Given the description of an element on the screen output the (x, y) to click on. 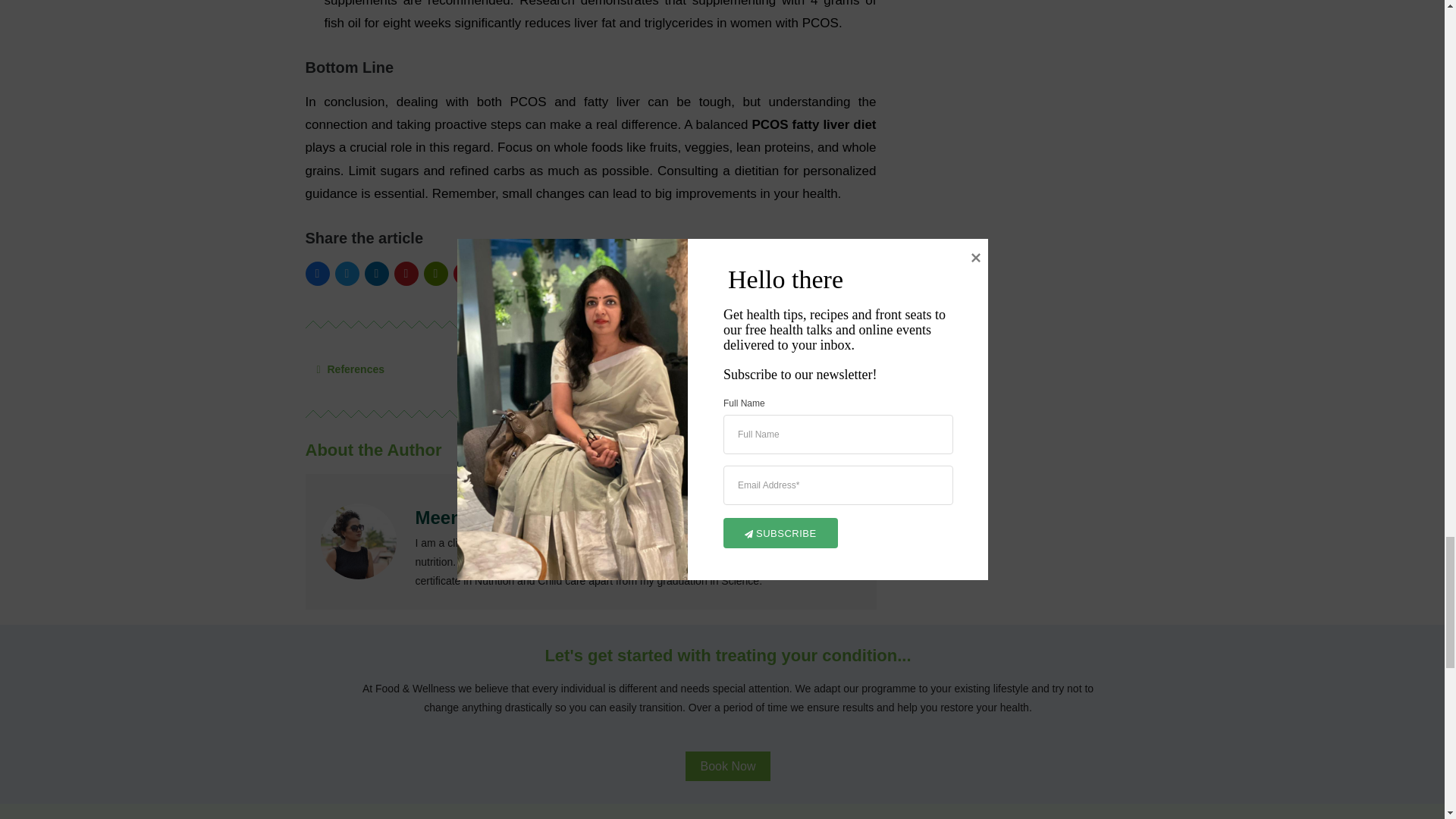
More share links (493, 273)
Add this to LinkedIn (376, 273)
Print this article  (434, 273)
Share this on Facebook (316, 273)
Convert to PDF (464, 273)
Tweet this ! (346, 273)
Submit this to Pinterest (406, 273)
